Given the description of an element on the screen output the (x, y) to click on. 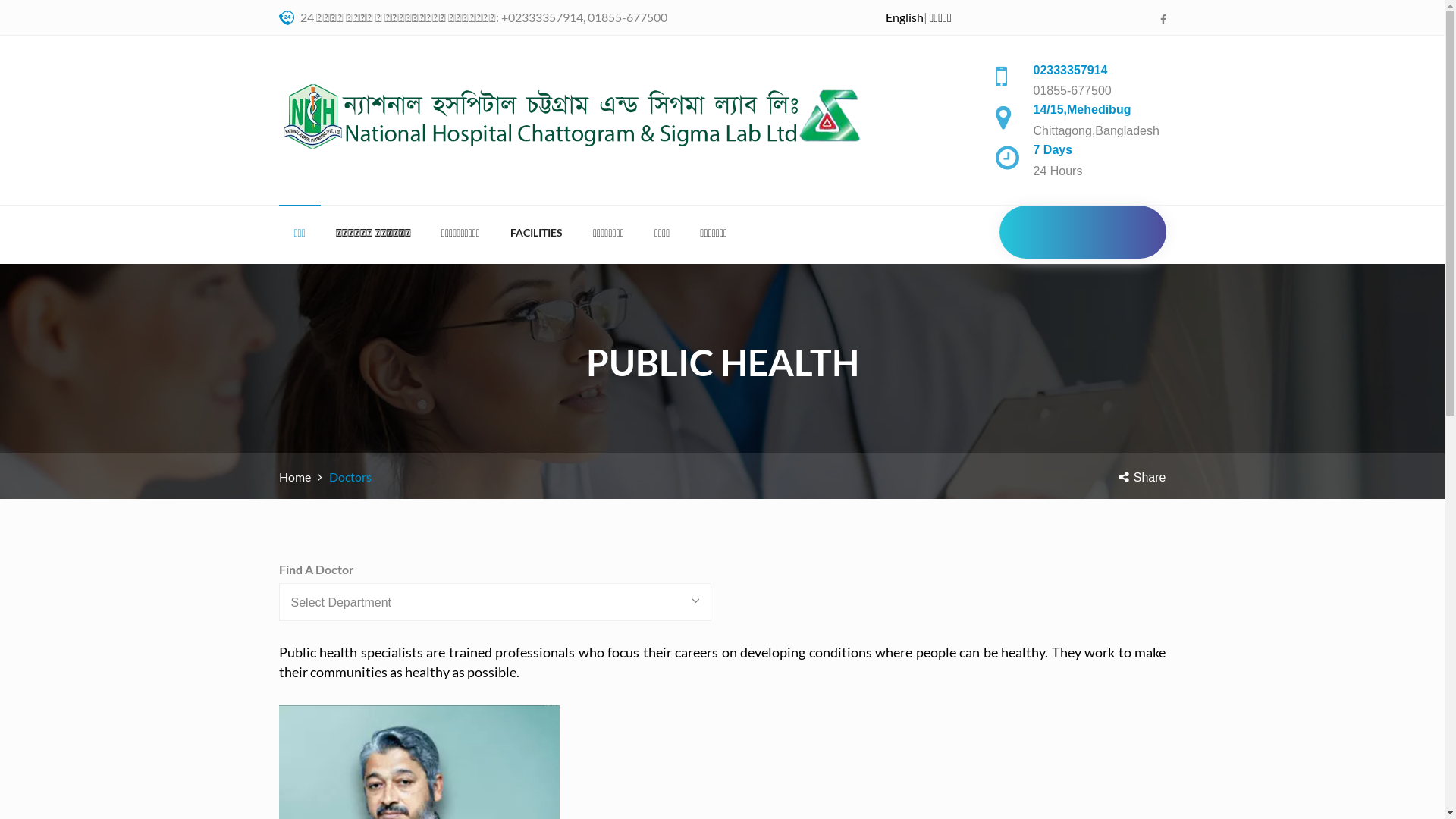
English Element type: text (904, 16)
FACILITIES Element type: text (536, 231)
Home Element type: text (294, 476)
Share Element type: text (1142, 477)
